Given the description of an element on the screen output the (x, y) to click on. 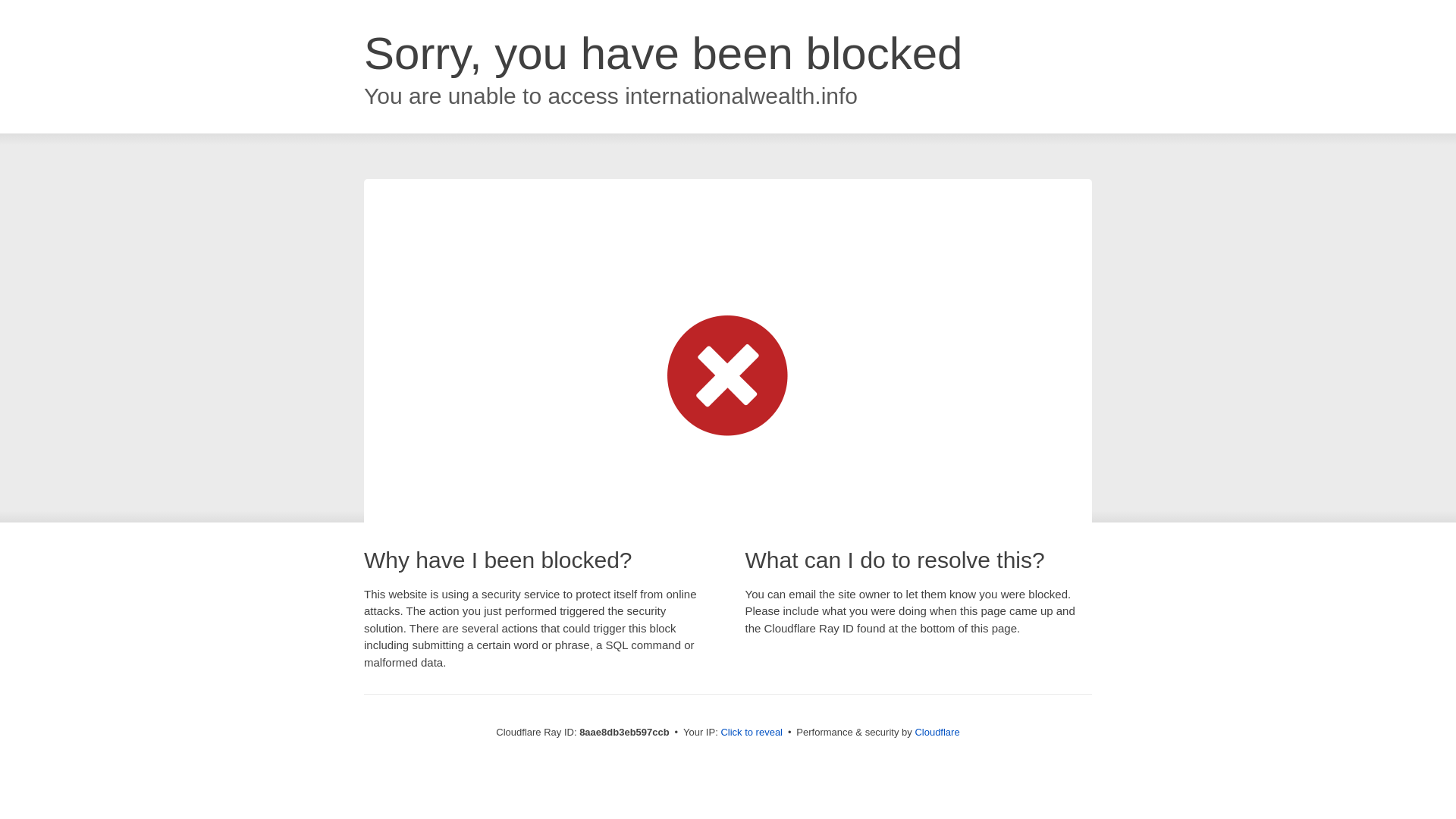
Click to reveal (751, 732)
Cloudflare (936, 731)
